Given the description of an element on the screen output the (x, y) to click on. 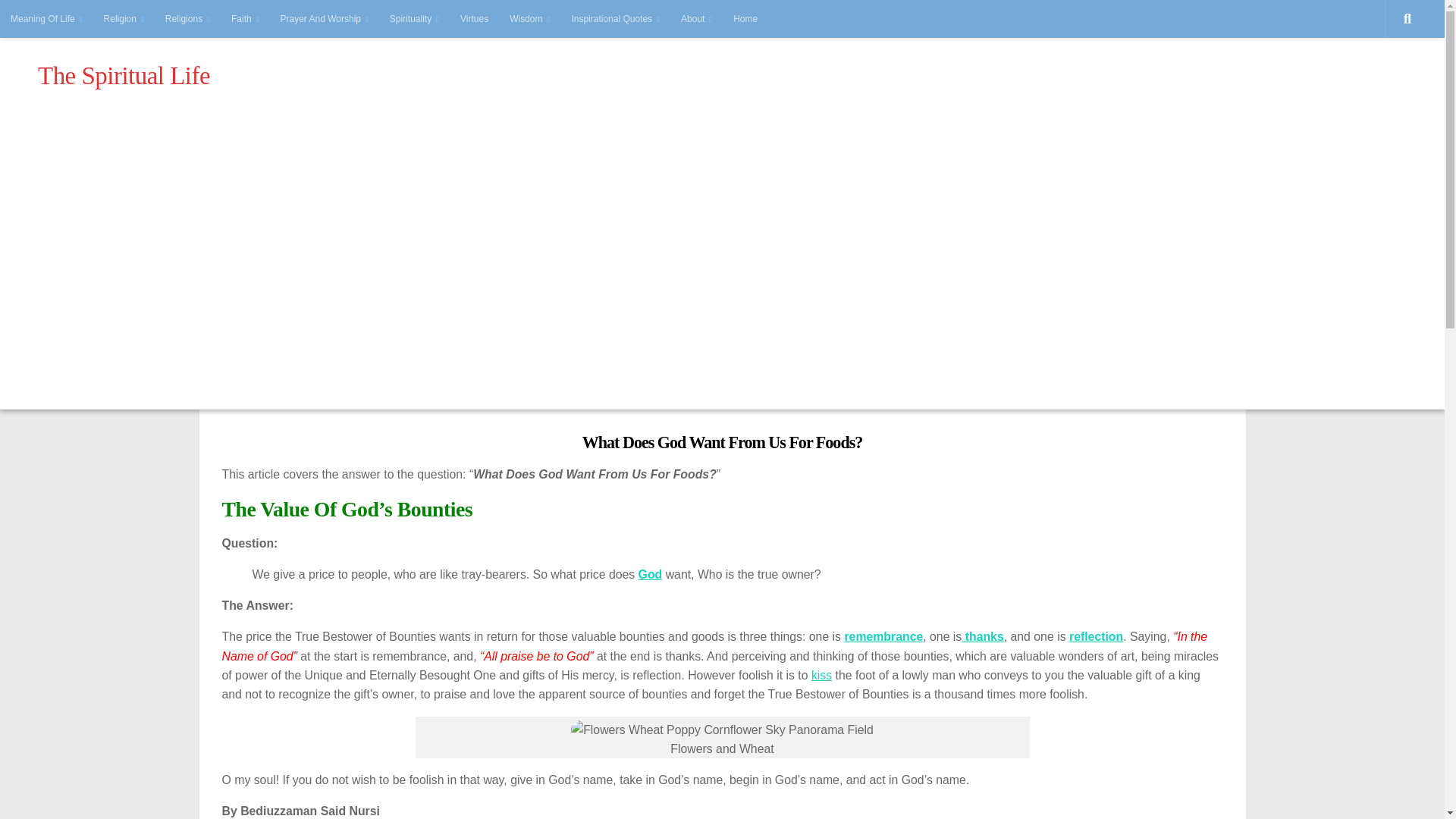
Skip to content (58, 19)
